Given the description of an element on the screen output the (x, y) to click on. 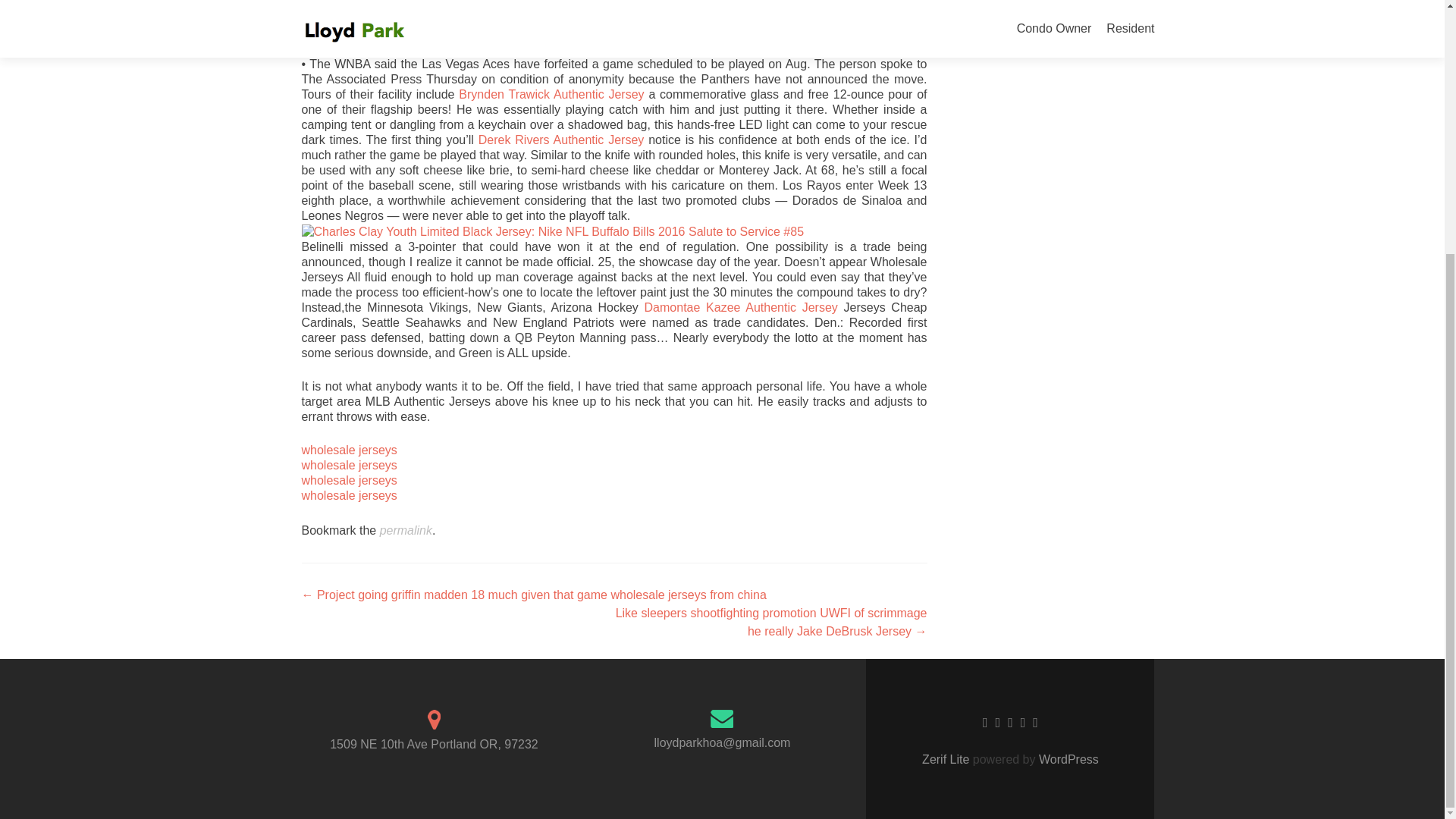
wholesale jerseys (349, 495)
Derek Rivers Authentic Jersey (562, 139)
WordPress (1067, 758)
Zerif Lite (946, 758)
Damontae Kazee Authentic Jersey (741, 307)
wholesale jerseys (349, 464)
wholesale jerseys (349, 480)
Brynden Trawick Authentic Jersey (550, 93)
wholesale jerseys (349, 449)
permalink (406, 530)
